Given the description of an element on the screen output the (x, y) to click on. 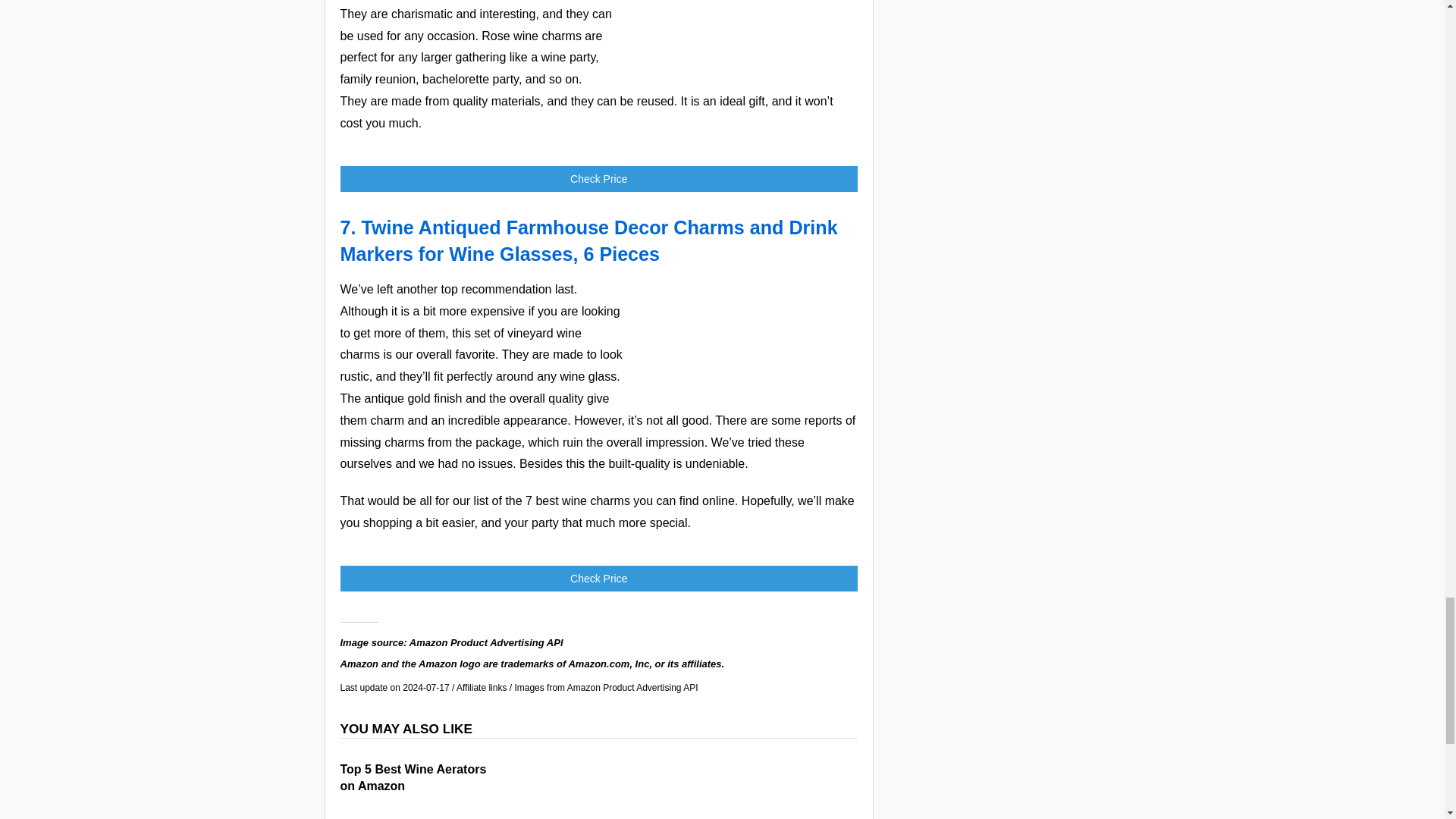
Check Price (598, 178)
